Given the description of an element on the screen output the (x, y) to click on. 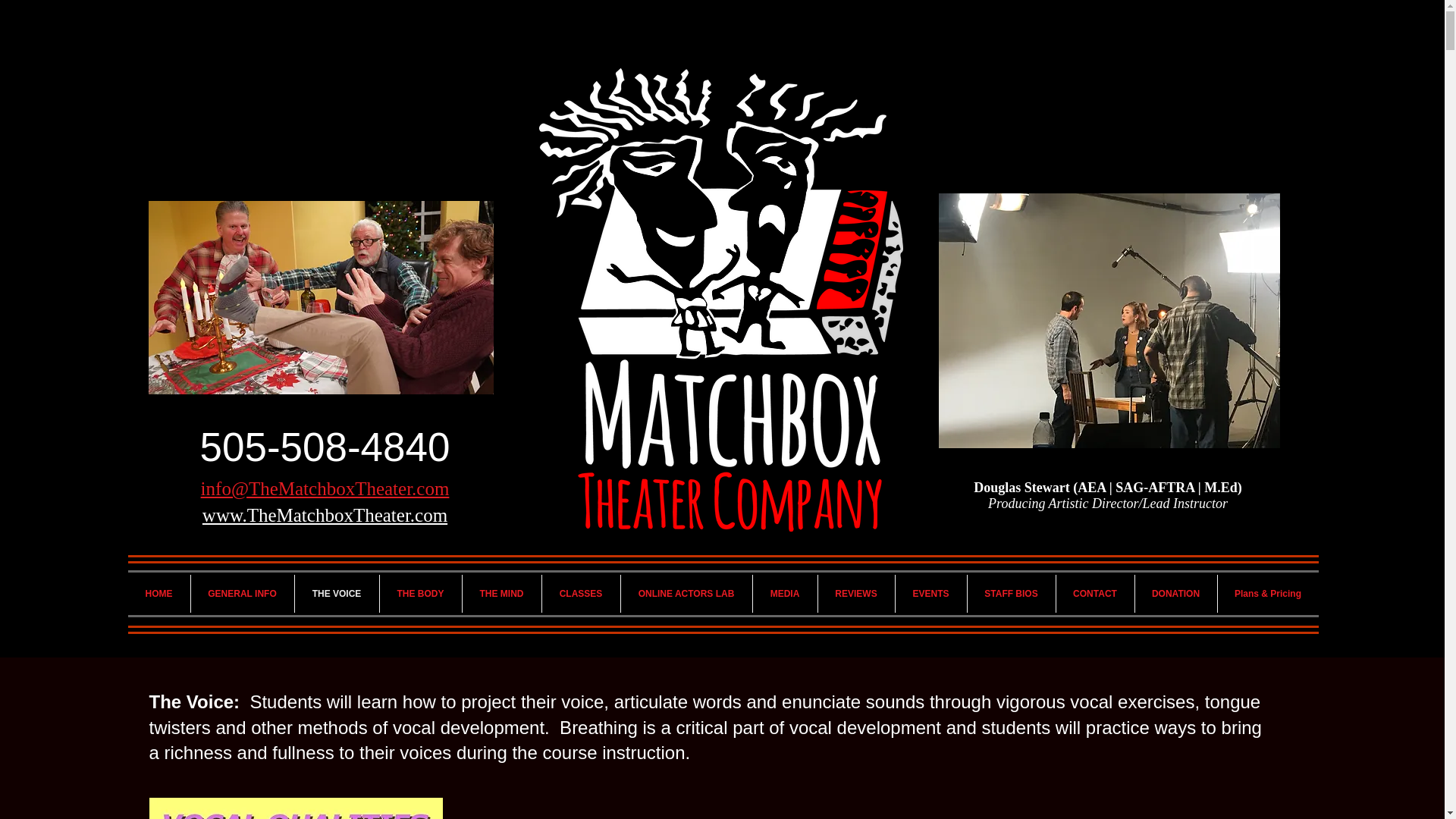
GENERAL INFO (242, 593)
CLASSES (580, 593)
REVIEWS (854, 593)
ONLINE ACTORS LAB (685, 593)
www.TheMatchboxTheater.com (324, 515)
THE BODY (419, 593)
THE MIND (502, 593)
MEDIA (784, 593)
EVENTS (930, 593)
THE VOICE (336, 593)
